Given the description of an element on the screen output the (x, y) to click on. 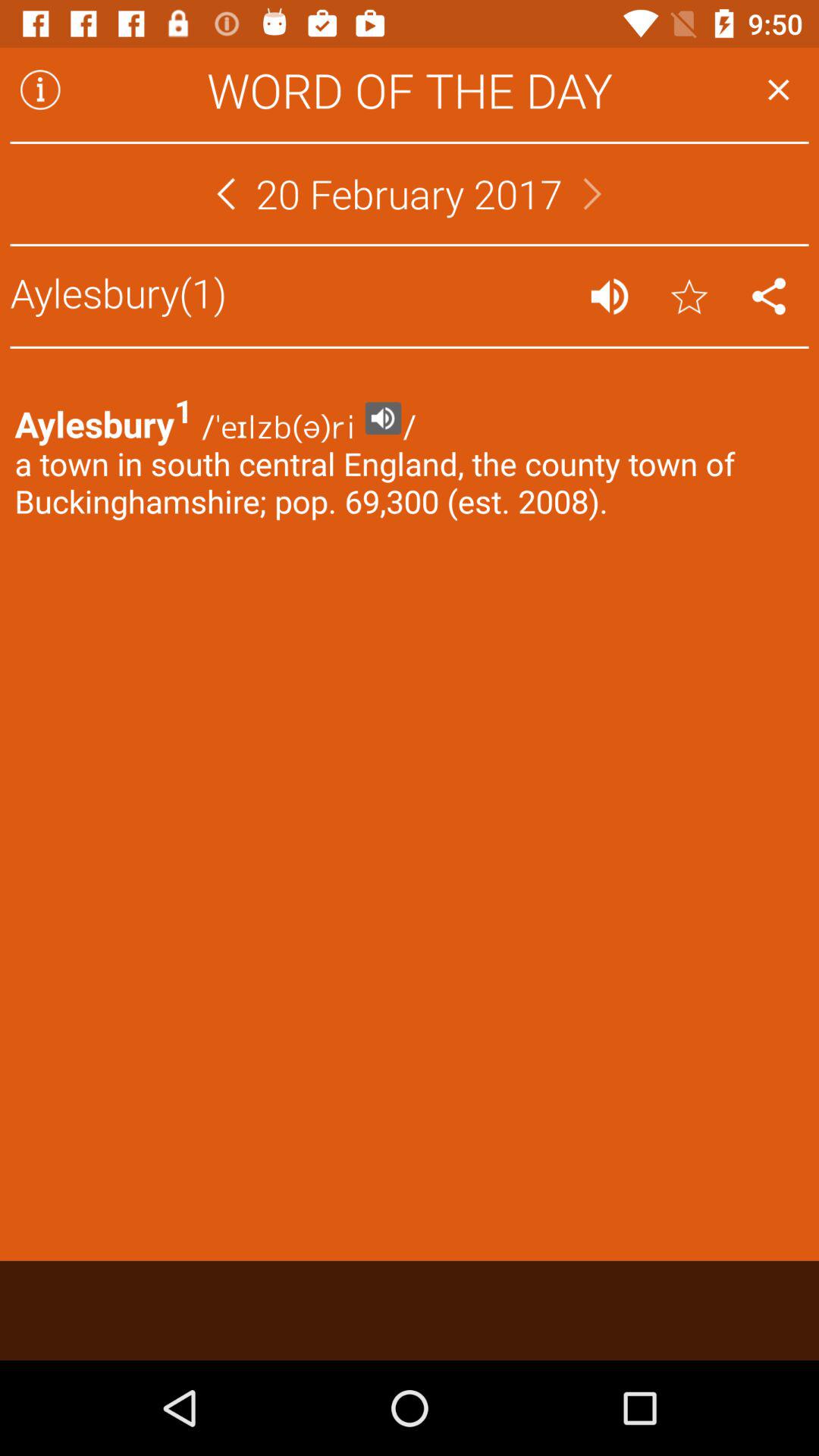
launch app next to the aylesbury(1) (609, 296)
